Given the description of an element on the screen output the (x, y) to click on. 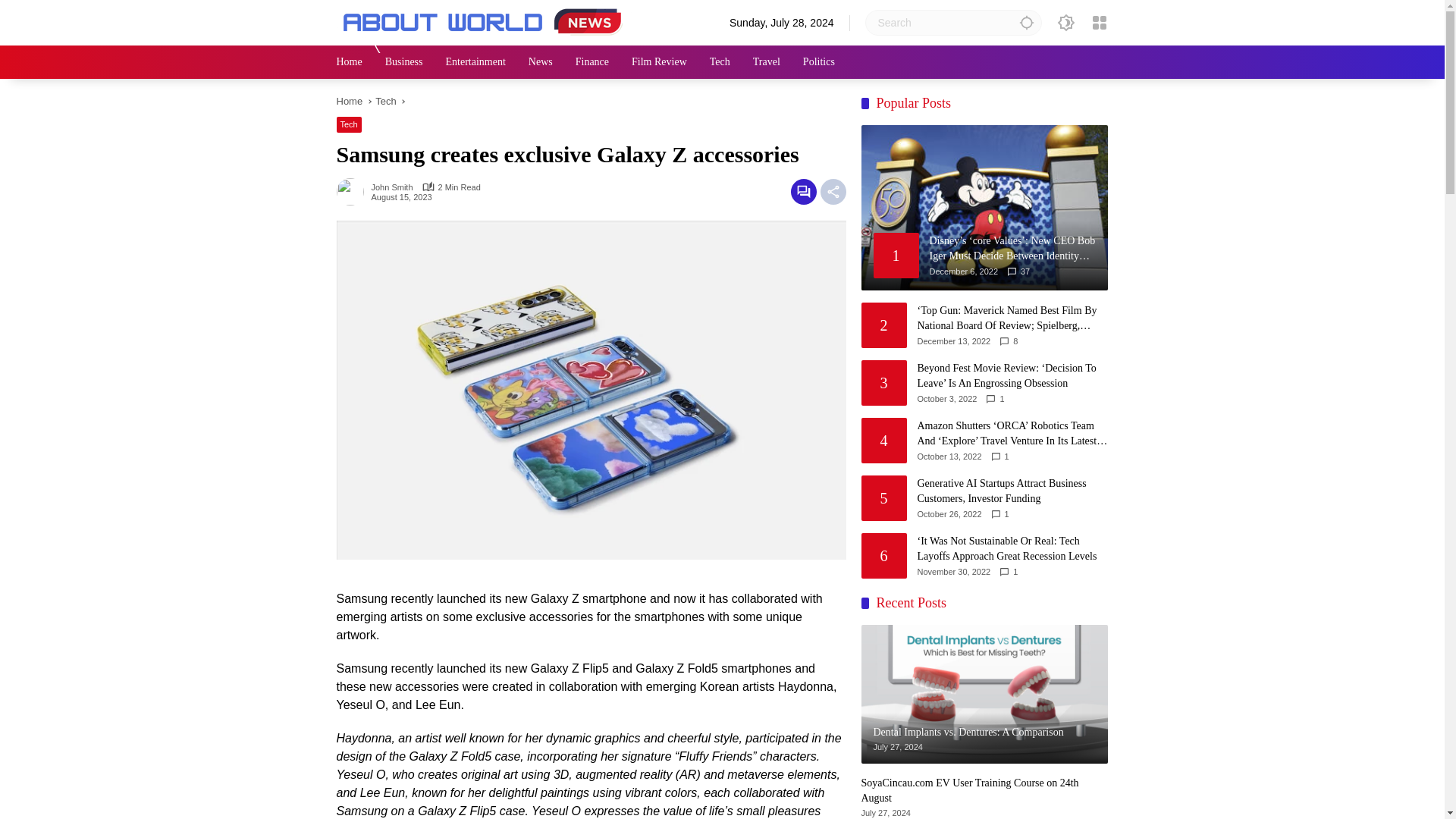
Tech (348, 124)
Film Review (659, 61)
Permalink to: John Smith (353, 190)
John Smith (392, 187)
Home (349, 101)
Entertainment (475, 61)
John Smith (392, 187)
Tech (385, 101)
Finance (591, 61)
View all posts in Tech (348, 124)
Politics (818, 61)
About World News (485, 21)
Business (404, 61)
